Given the description of an element on the screen output the (x, y) to click on. 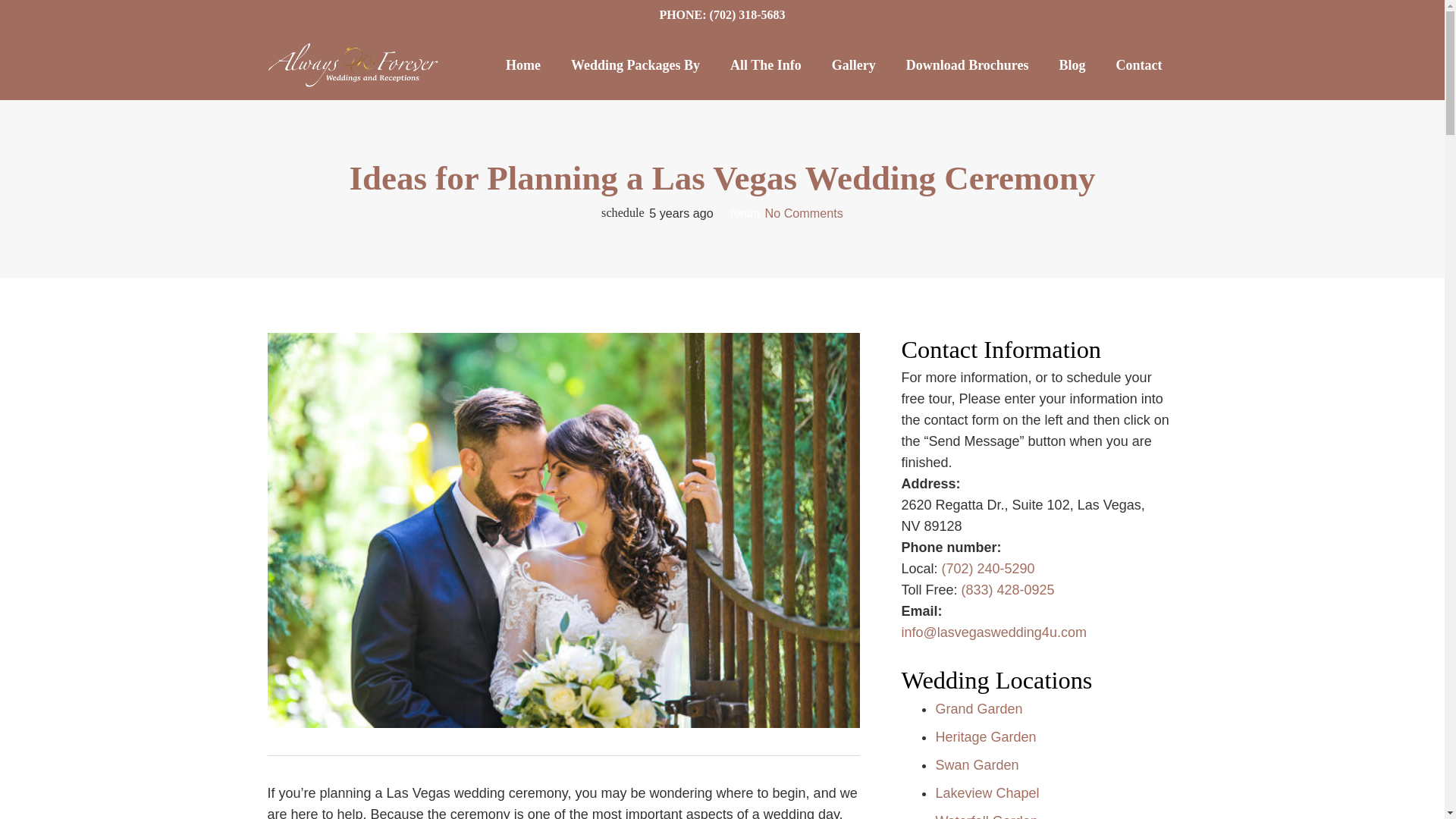
Wedding Packages By (635, 64)
All The Info (765, 64)
Home (523, 64)
No Comments (803, 213)
